Given the description of an element on the screen output the (x, y) to click on. 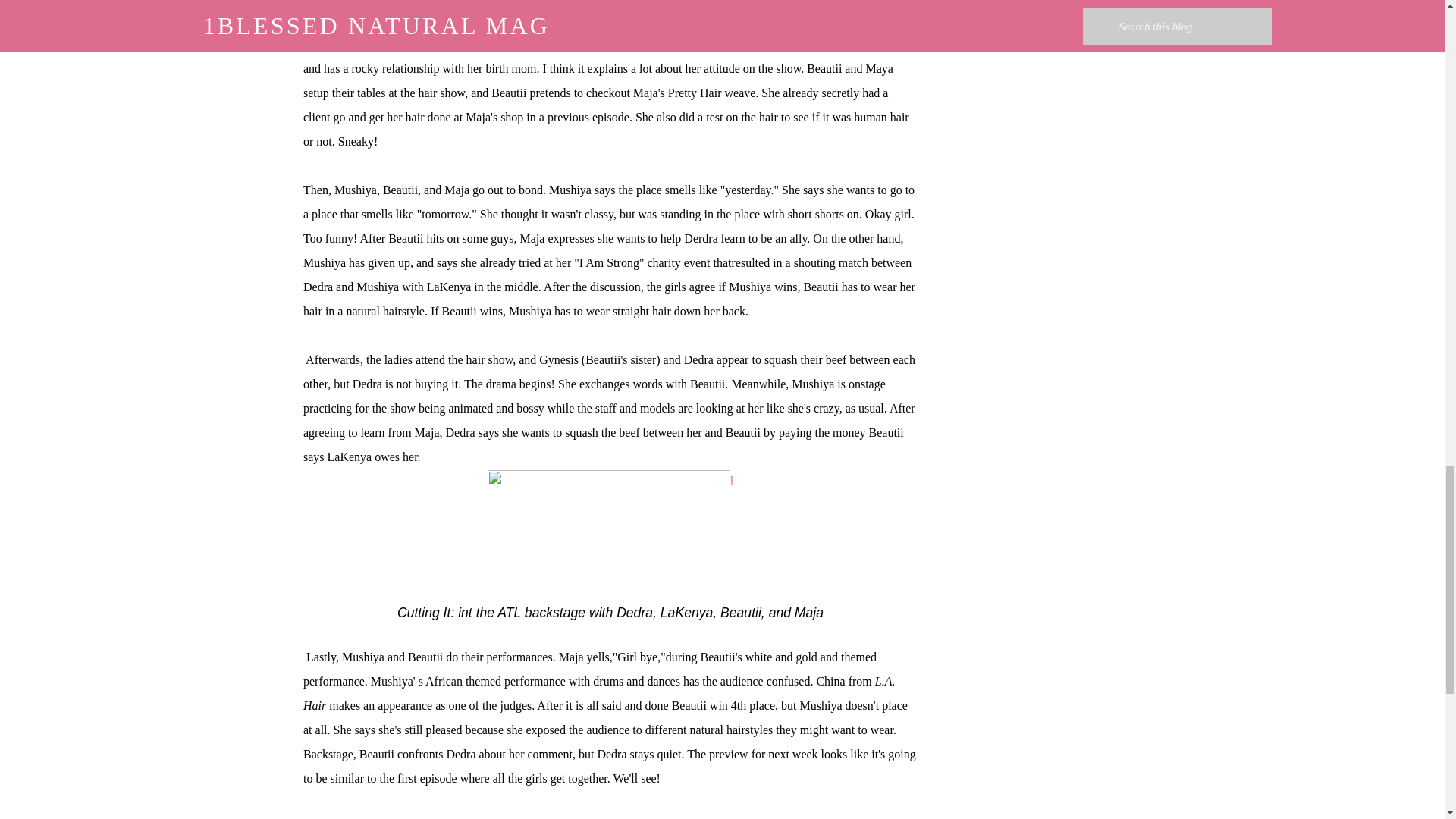
l (610, 537)
